Given the description of an element on the screen output the (x, y) to click on. 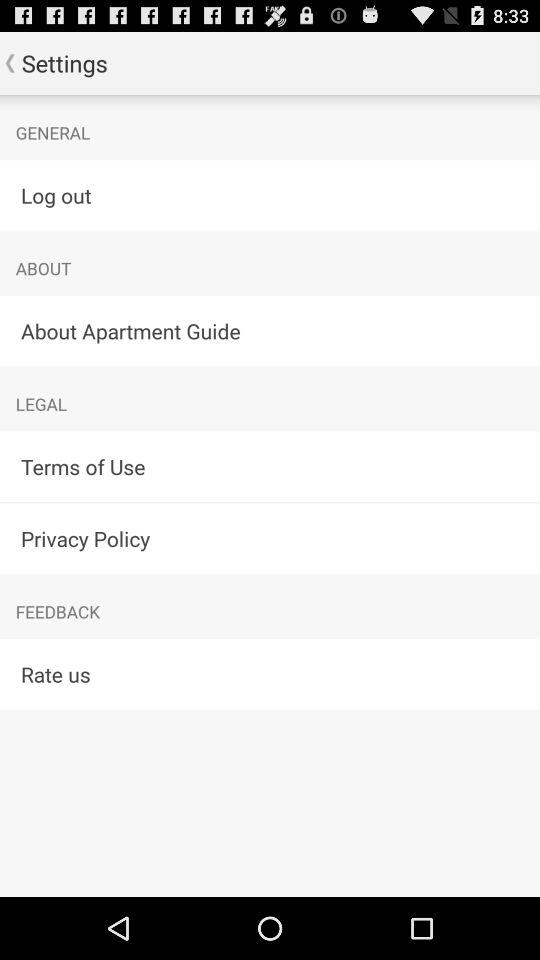
flip until the log out icon (270, 194)
